Given the description of an element on the screen output the (x, y) to click on. 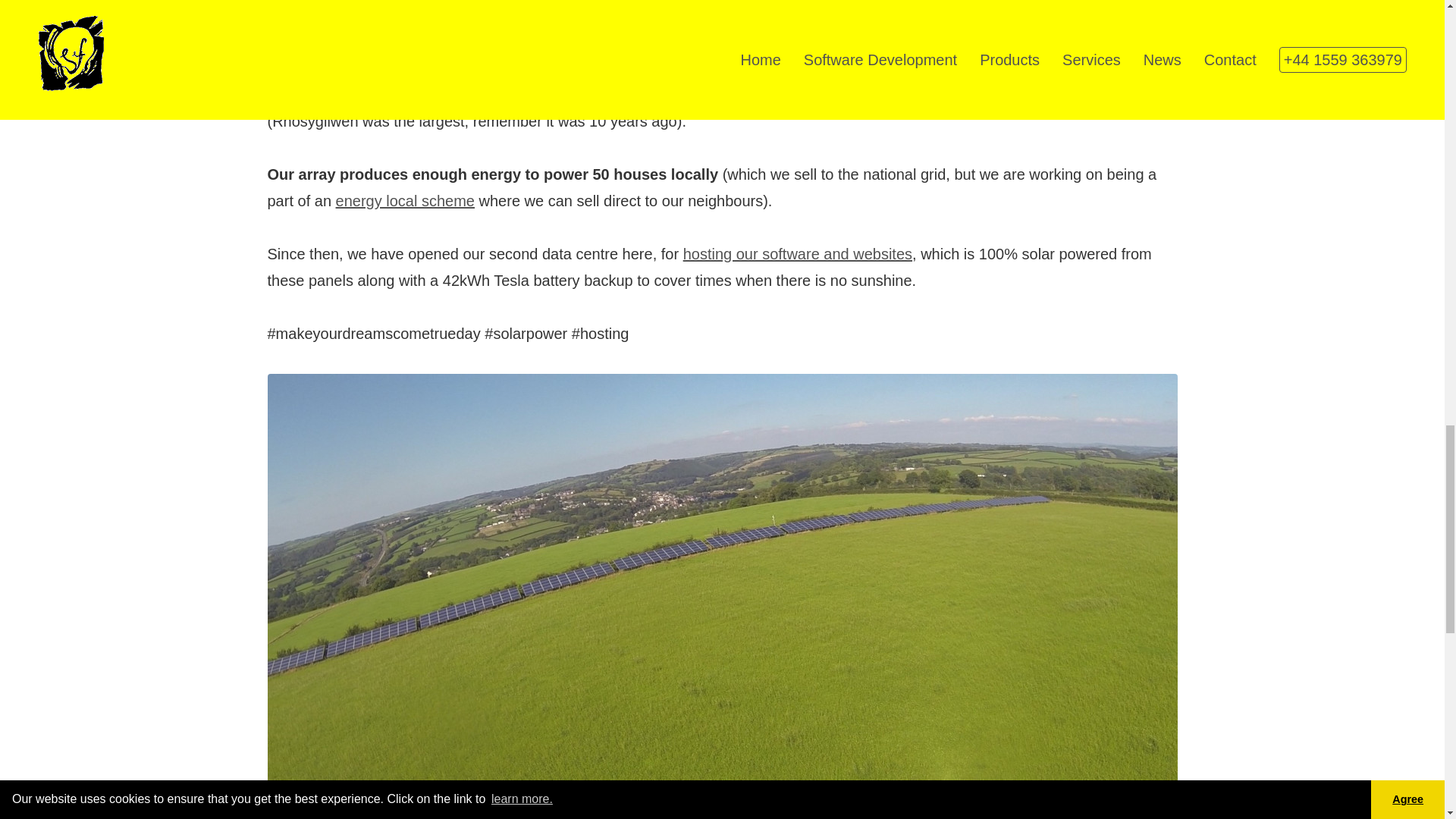
energy local scheme (405, 200)
hosting our software and websites (797, 253)
